Given the description of an element on the screen output the (x, y) to click on. 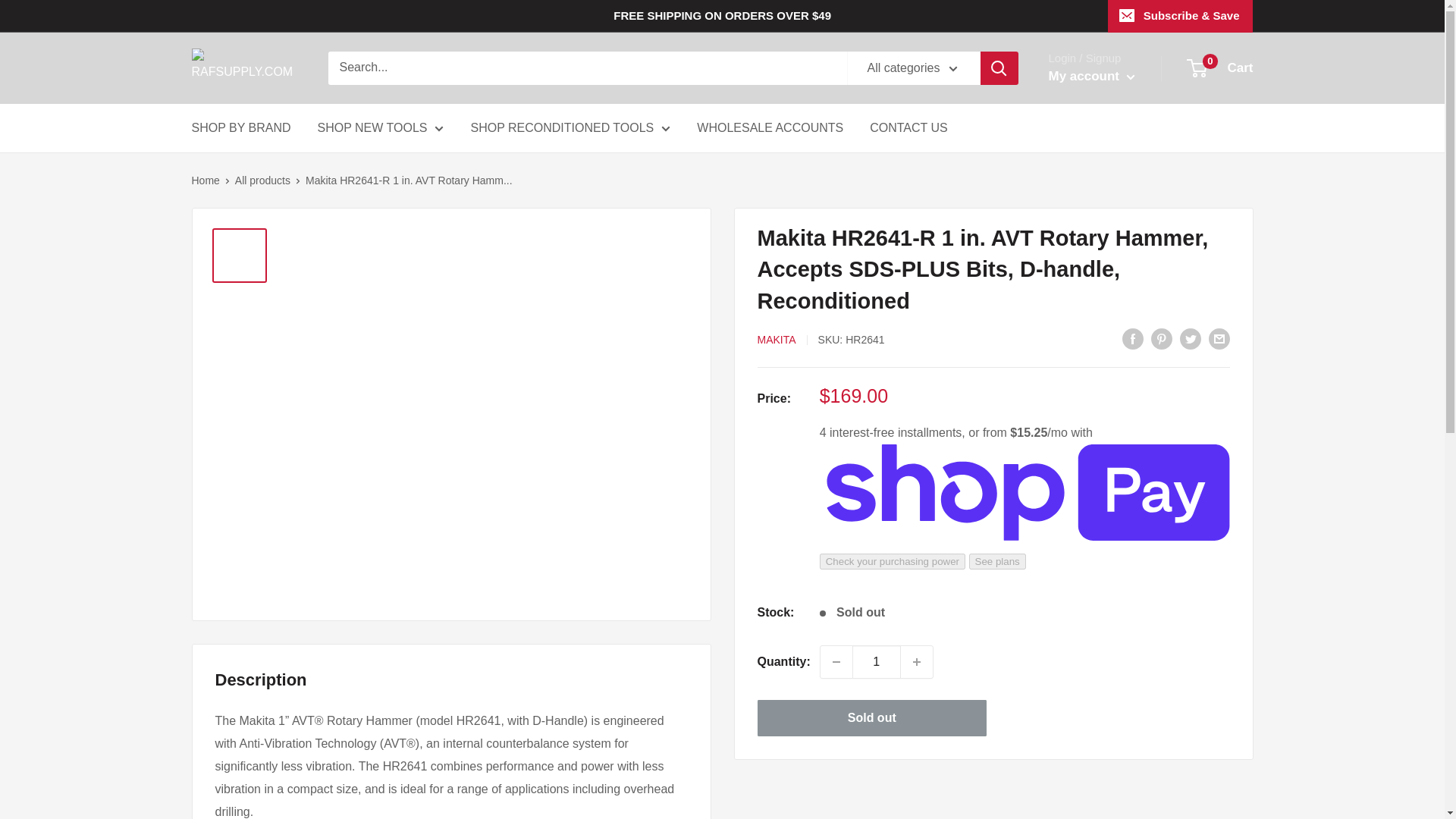
Decrease quantity by 1 (836, 662)
Increase quantity by 1 (917, 662)
1 (876, 662)
